Given the description of an element on the screen output the (x, y) to click on. 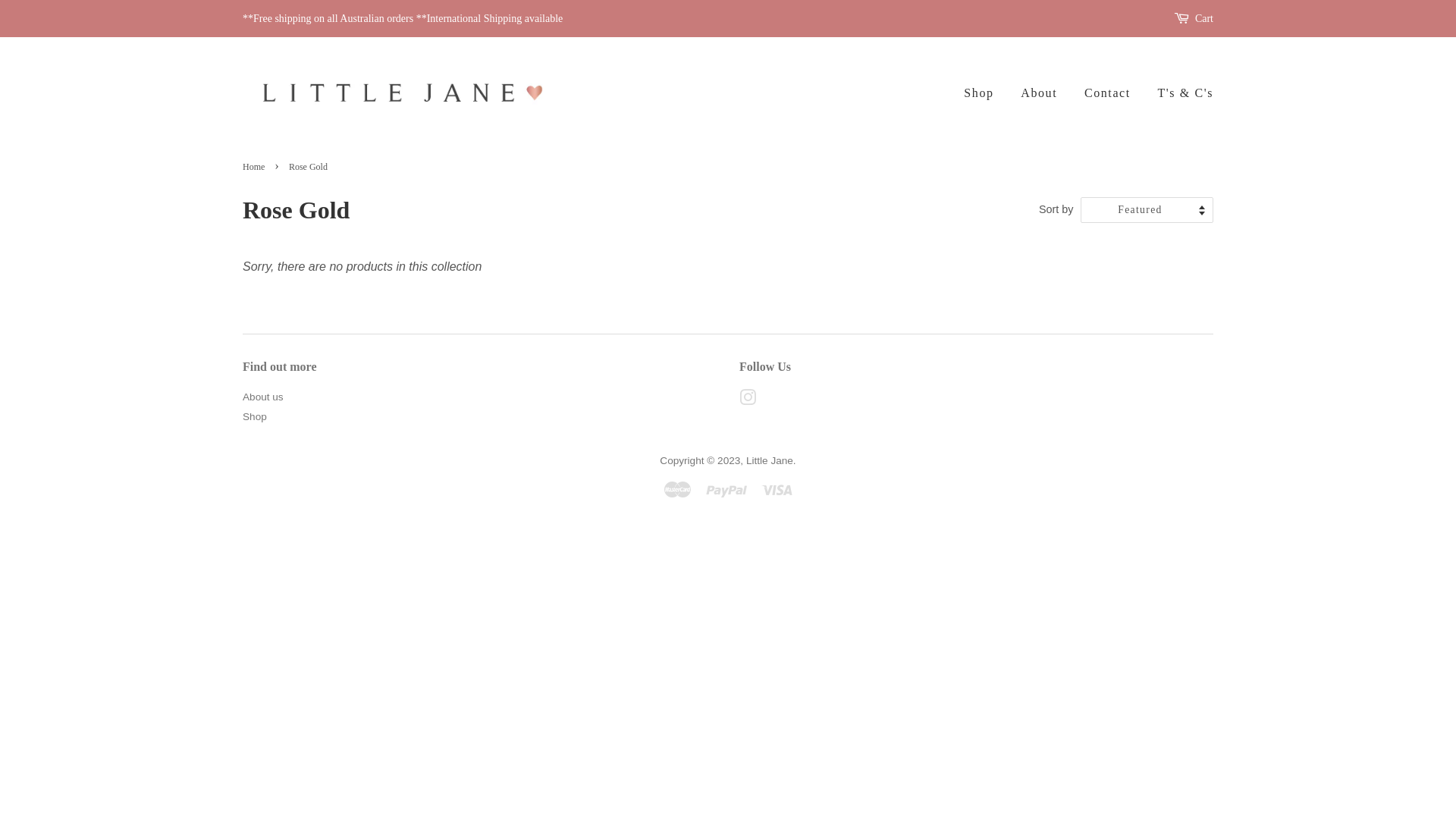
Shop Element type: text (254, 416)
Little Jane Element type: text (769, 460)
T's & C's Element type: text (1179, 92)
Home Element type: text (255, 166)
Contact Element type: text (1107, 92)
Instagram Element type: text (747, 400)
About Element type: text (1038, 92)
About us Element type: text (262, 396)
Shop Element type: text (983, 92)
Cart Element type: text (1204, 18)
